Given the description of an element on the screen output the (x, y) to click on. 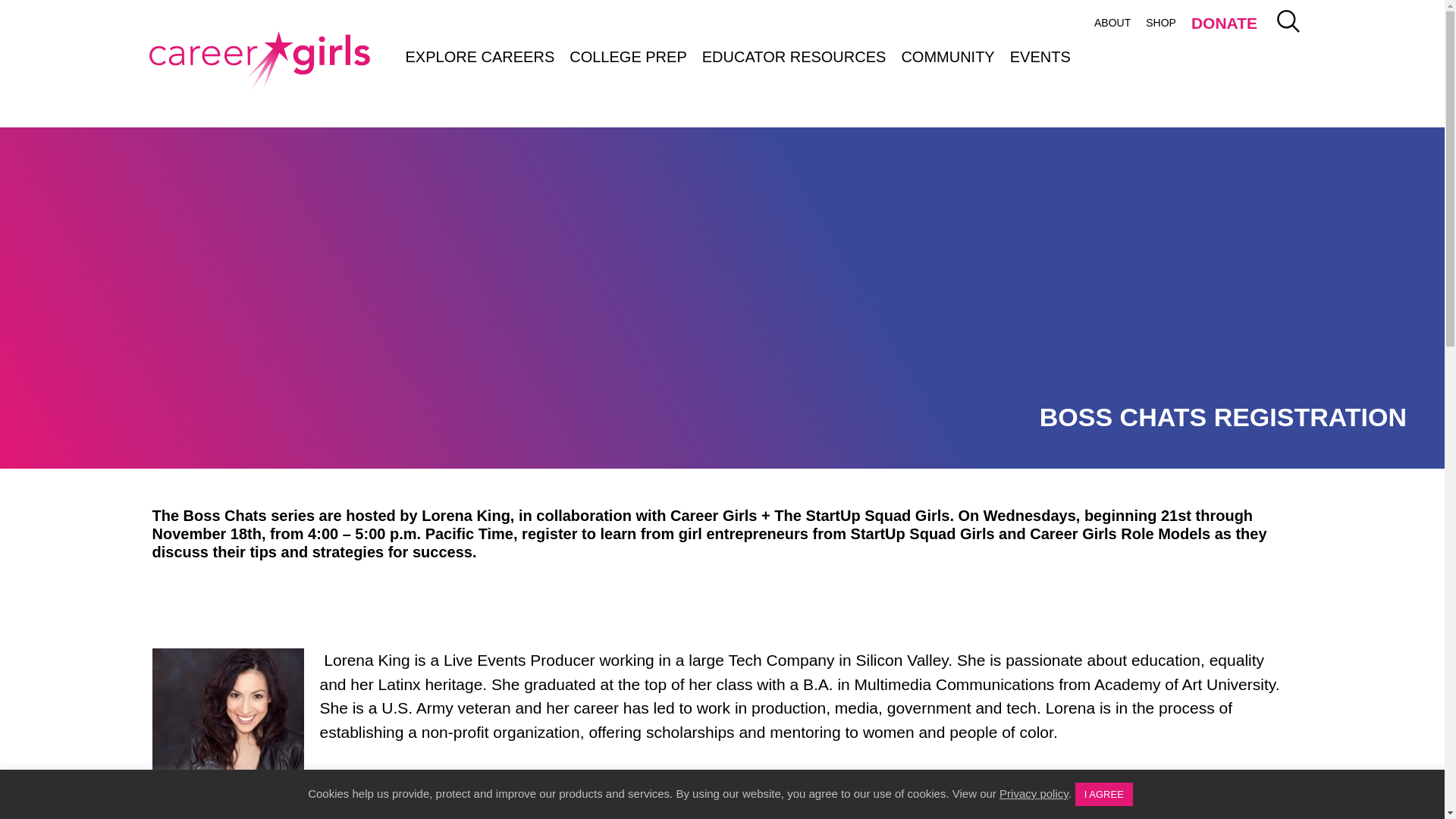
COLLEGE PREP (628, 56)
COMMUNITY (947, 56)
SHOP (1160, 22)
EVENTS (1040, 56)
ABOUT (1112, 22)
DONATE (1224, 25)
EDUCATOR RESOURCES (793, 56)
EXPLORE CAREERS (479, 56)
